Given the description of an element on the screen output the (x, y) to click on. 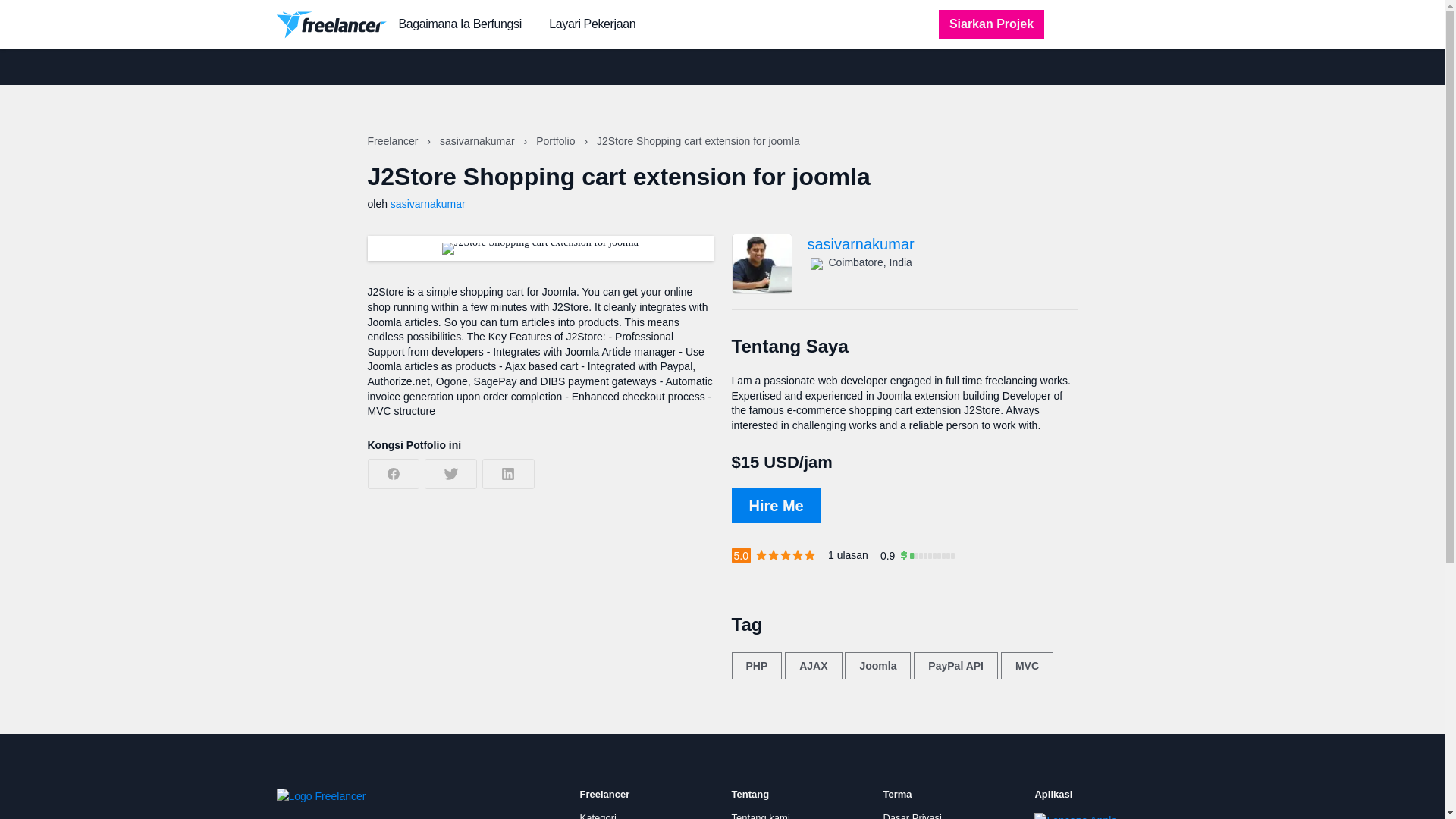
sasivarnakumar (941, 243)
Tentang kami (759, 815)
PayPal API (955, 665)
Bagaimana Ia Berfungsi (459, 24)
Kongsi di Twitter (450, 473)
Kongsi dalam LinkedIn (507, 473)
Muat turun di App Store (1085, 816)
Hire Me (775, 505)
sasivarnakumar (427, 203)
Portfolio (556, 141)
AJAX (812, 665)
sasivarnakumar (478, 141)
Kongsi di Facebook (392, 473)
Kategori (597, 815)
Siarkan Projek (991, 23)
